Given the description of an element on the screen output the (x, y) to click on. 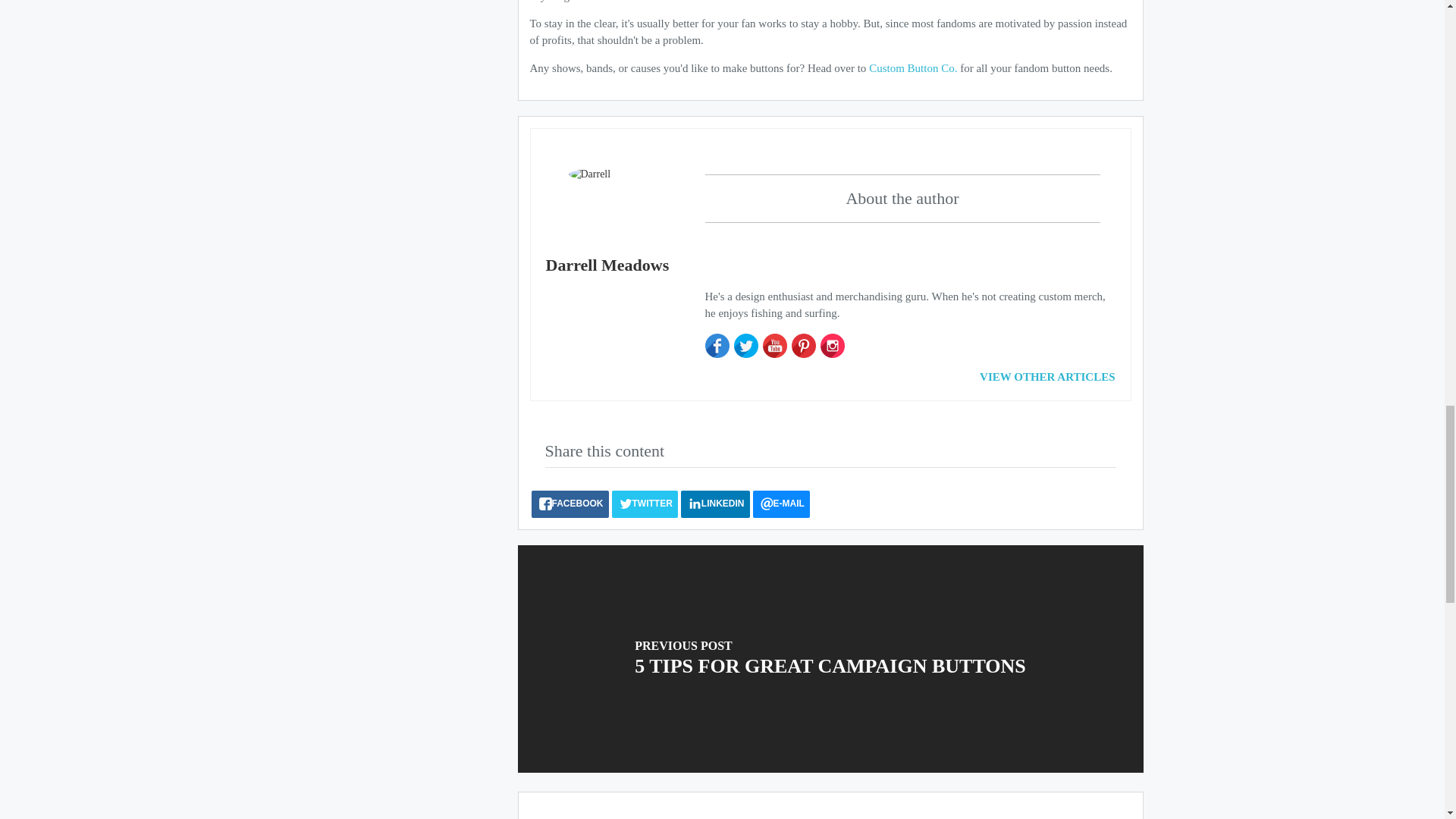
Pinterest (803, 345)
Facebook (716, 345)
YouTube (774, 345)
Twitter (745, 345)
Instagram (832, 345)
